Given the description of an element on the screen output the (x, y) to click on. 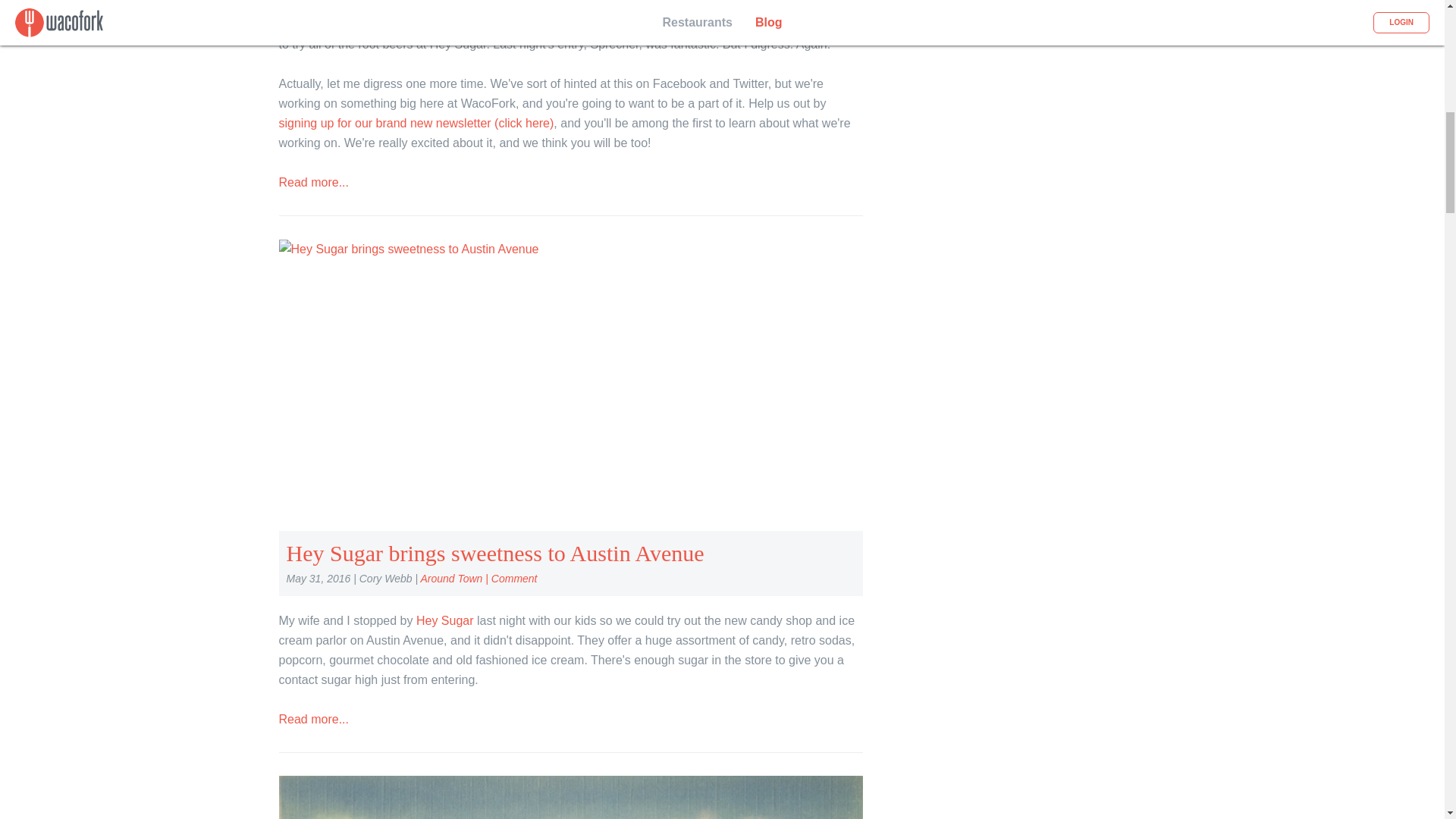
Comment (514, 578)
Hey Sugar (594, 5)
Hey Sugar brings sweetness to Austin Avenue (408, 247)
Hey Sugar (445, 620)
Read more... (314, 718)
Hey Sugar brings sweetness to Austin Avenue (495, 552)
Read more... (314, 182)
